Given the description of an element on the screen output the (x, y) to click on. 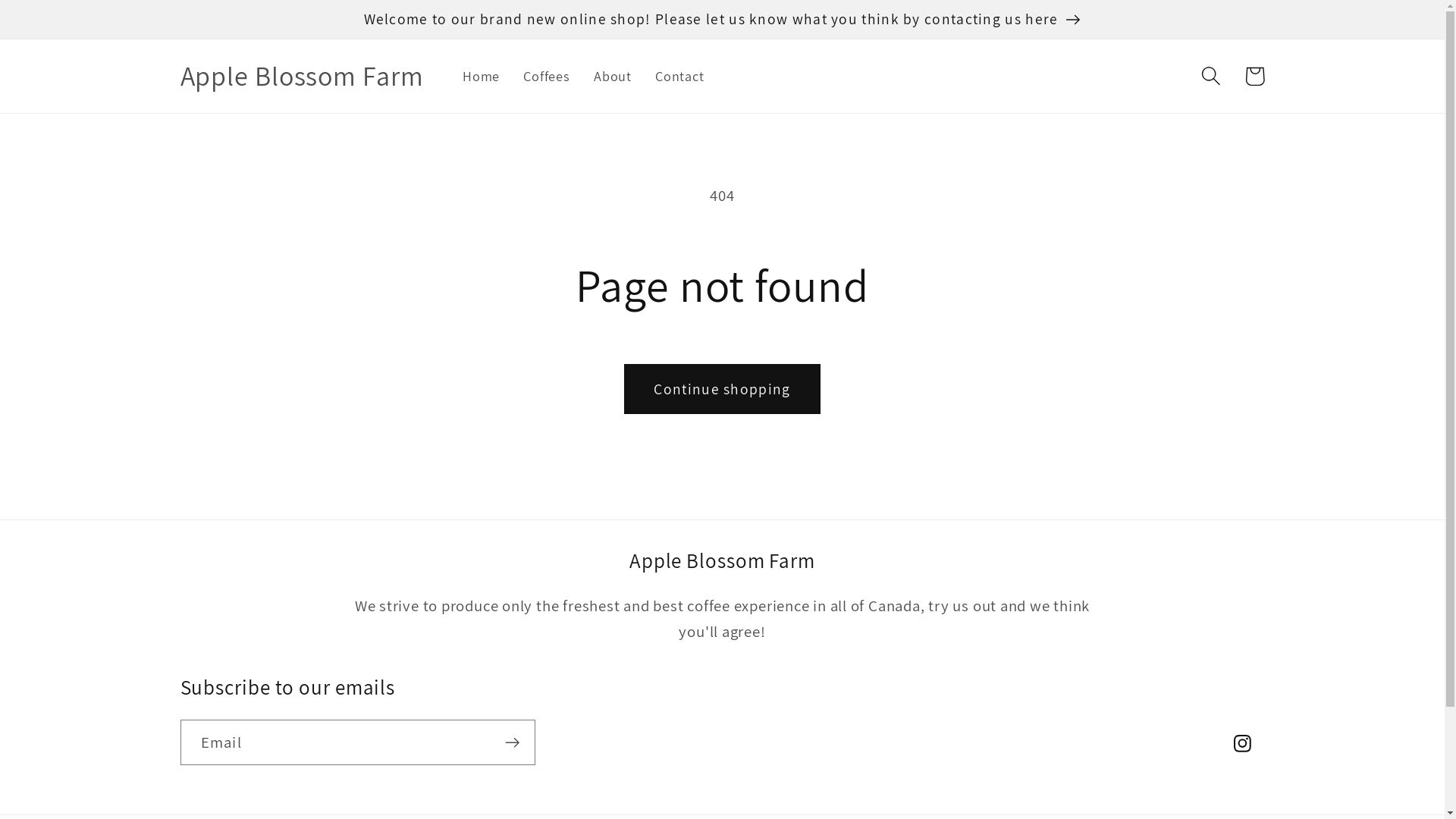
Continue shopping Element type: text (721, 389)
Contact Element type: text (679, 75)
Coffees Element type: text (546, 75)
Home Element type: text (480, 75)
Instagram Element type: text (1242, 743)
About Element type: text (612, 75)
Cart Element type: text (1254, 75)
Apple Blossom Farm Element type: text (301, 75)
